Given the description of an element on the screen output the (x, y) to click on. 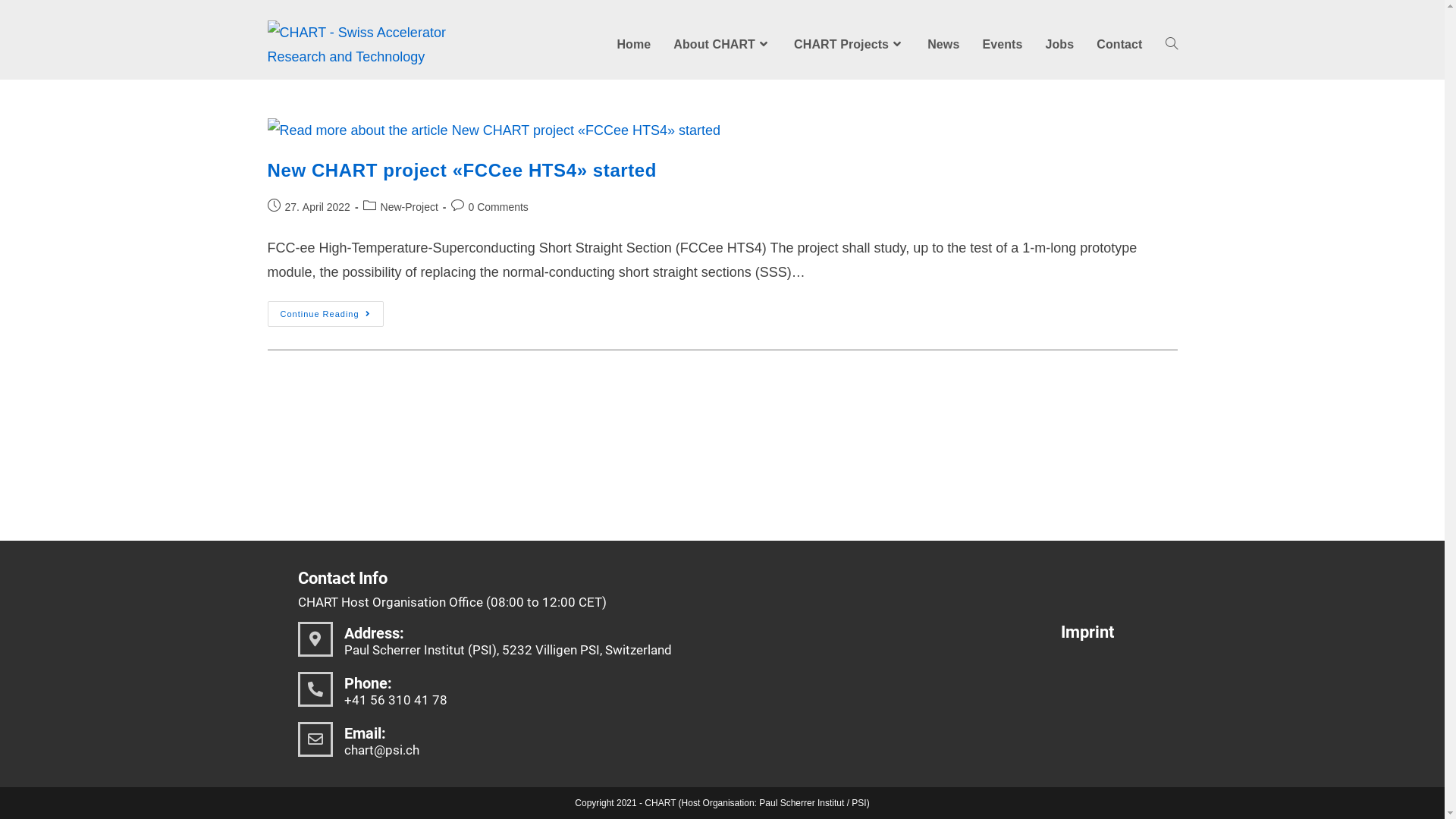
Jobs Element type: text (1059, 44)
New-Project Element type: text (409, 206)
Continue Reading Element type: text (324, 313)
CHART Projects Element type: text (849, 44)
0 Comments Element type: text (498, 206)
News Element type: text (943, 44)
About CHART Element type: text (722, 44)
Home Element type: text (633, 44)
Events Element type: text (1001, 44)
Contact Element type: text (1119, 44)
